Given the description of an element on the screen output the (x, y) to click on. 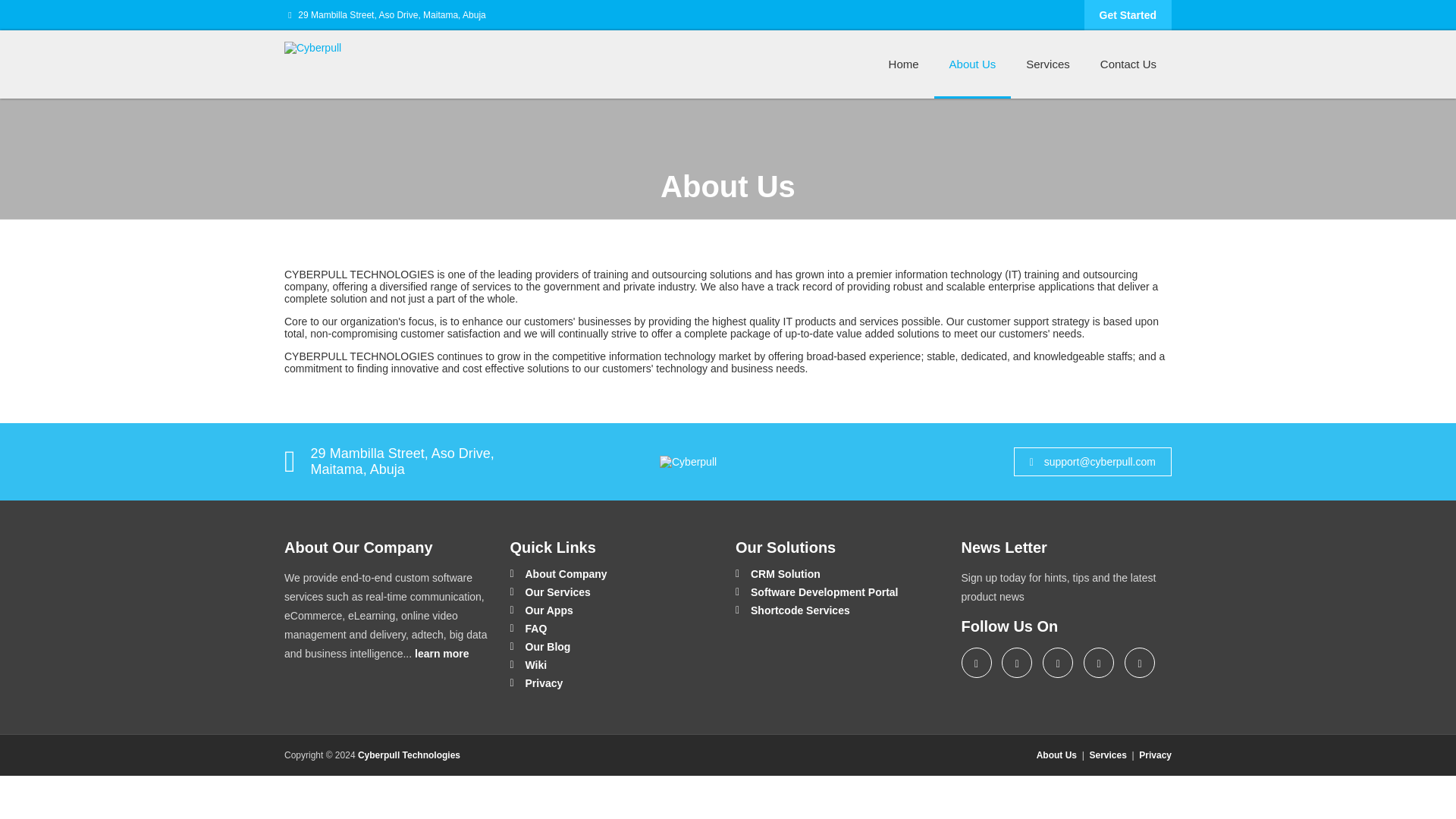
Cyberpull Technologies (409, 755)
FAQ (528, 628)
Get Started (1128, 15)
Wiki (528, 665)
About Us (972, 64)
About Company (558, 573)
Contact Us (1128, 64)
Software Development Portal (816, 592)
About Us (1056, 755)
Home (903, 64)
Services (1107, 755)
Privacy (1155, 755)
Our Blog (539, 646)
learn more (441, 653)
Our Apps (540, 610)
